Given the description of an element on the screen output the (x, y) to click on. 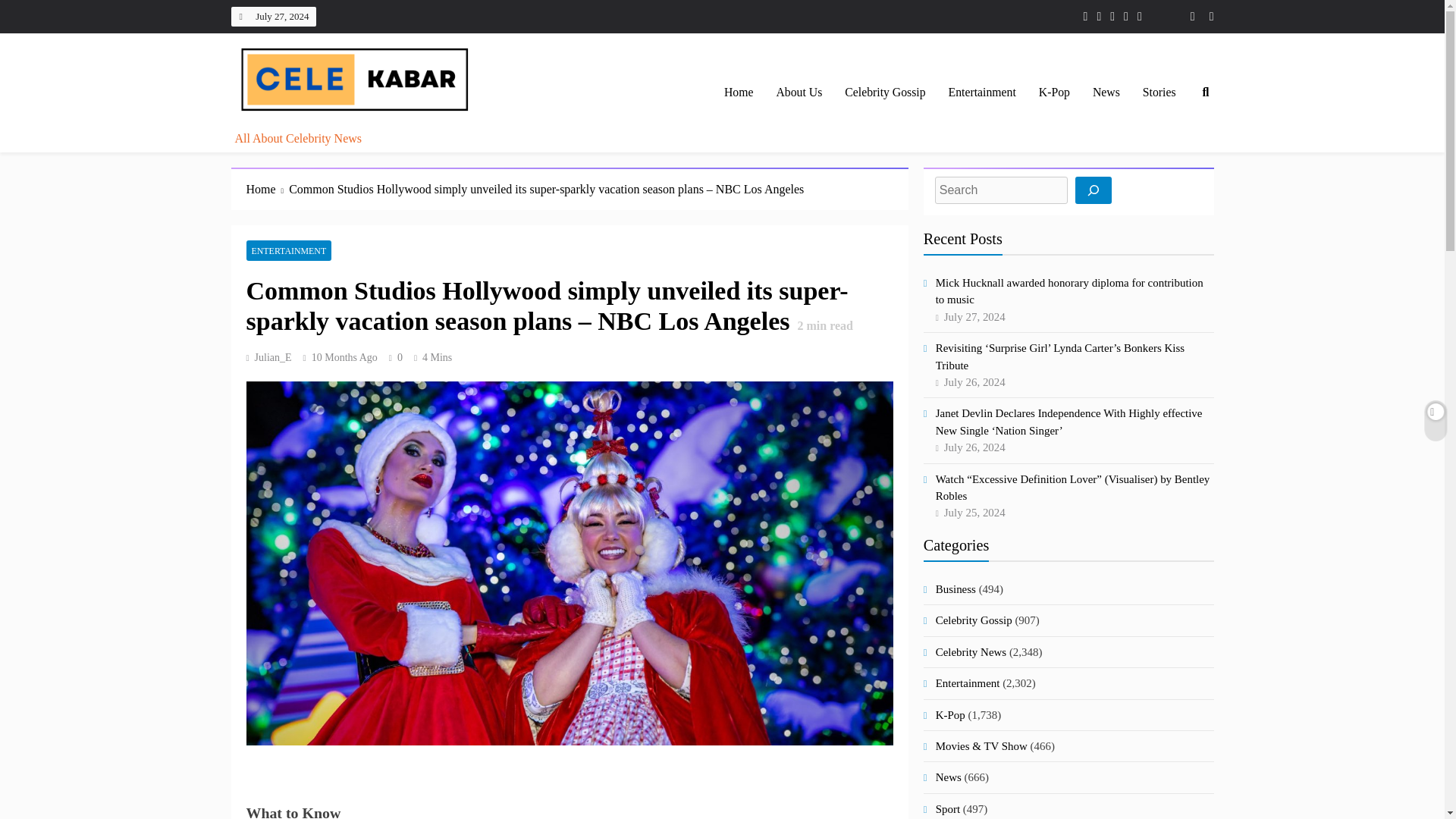
About Us (798, 92)
Home (739, 92)
Home (267, 189)
10 Months Ago (344, 357)
K-Pop (1054, 92)
Entertainment (982, 92)
Stories (1159, 92)
Celebrity Gossip (884, 92)
ENTERTAINMENT (288, 250)
News (1106, 92)
